Given the description of an element on the screen output the (x, y) to click on. 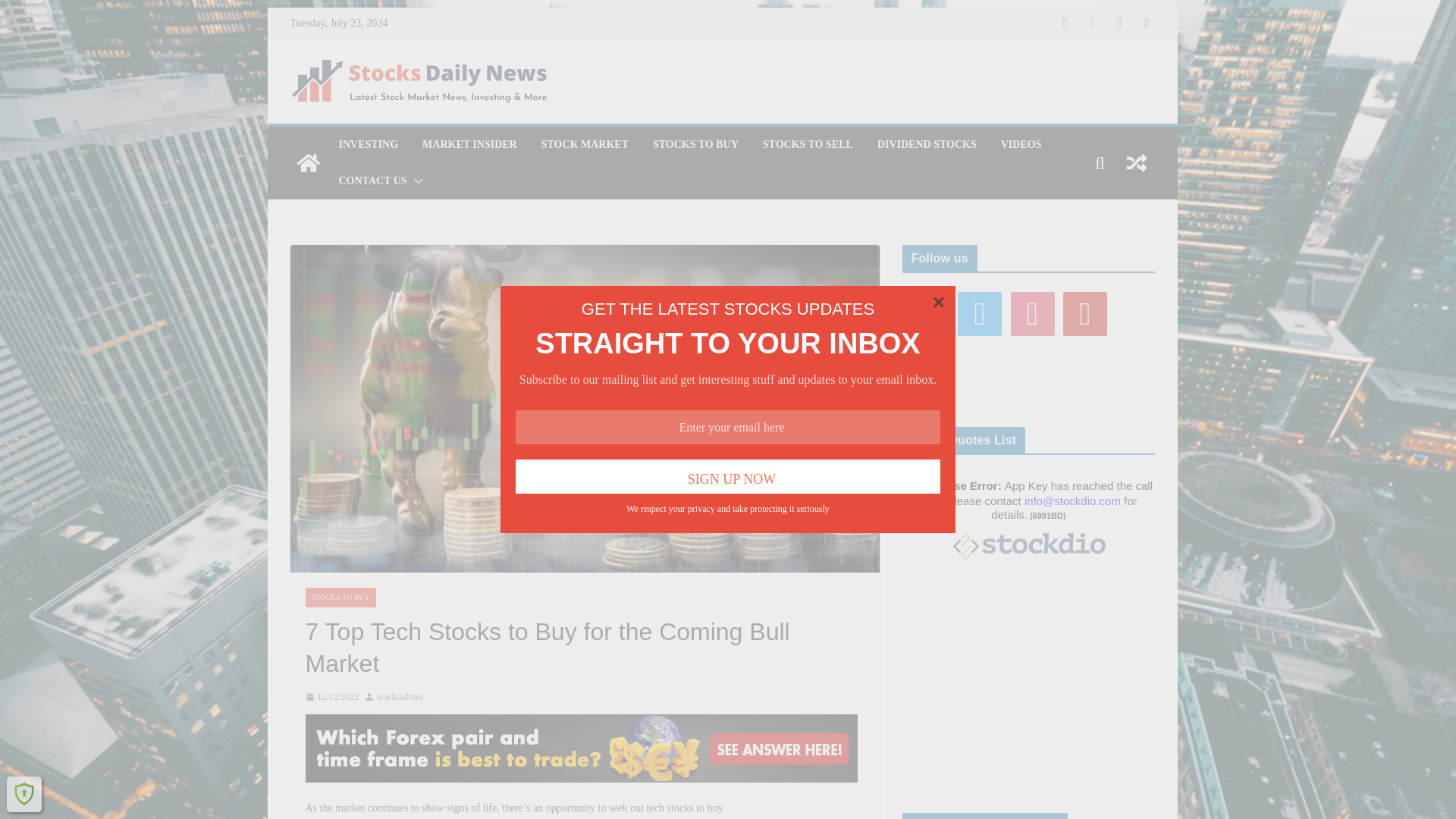
STOCKS TO BUY (339, 597)
Stock Daily News (307, 162)
MARKET INSIDER (469, 144)
stocksadmin (399, 697)
View a random post (1136, 162)
INVESTING (367, 144)
STOCK MARKET (584, 144)
12:20 am (331, 697)
stocksadmin (399, 697)
STOCKS TO BUY (695, 144)
CONTACT US (371, 180)
STOCKS TO SELL (807, 144)
DIVIDEND STOCKS (926, 144)
Sign Up Now (727, 476)
